Given the description of an element on the screen output the (x, y) to click on. 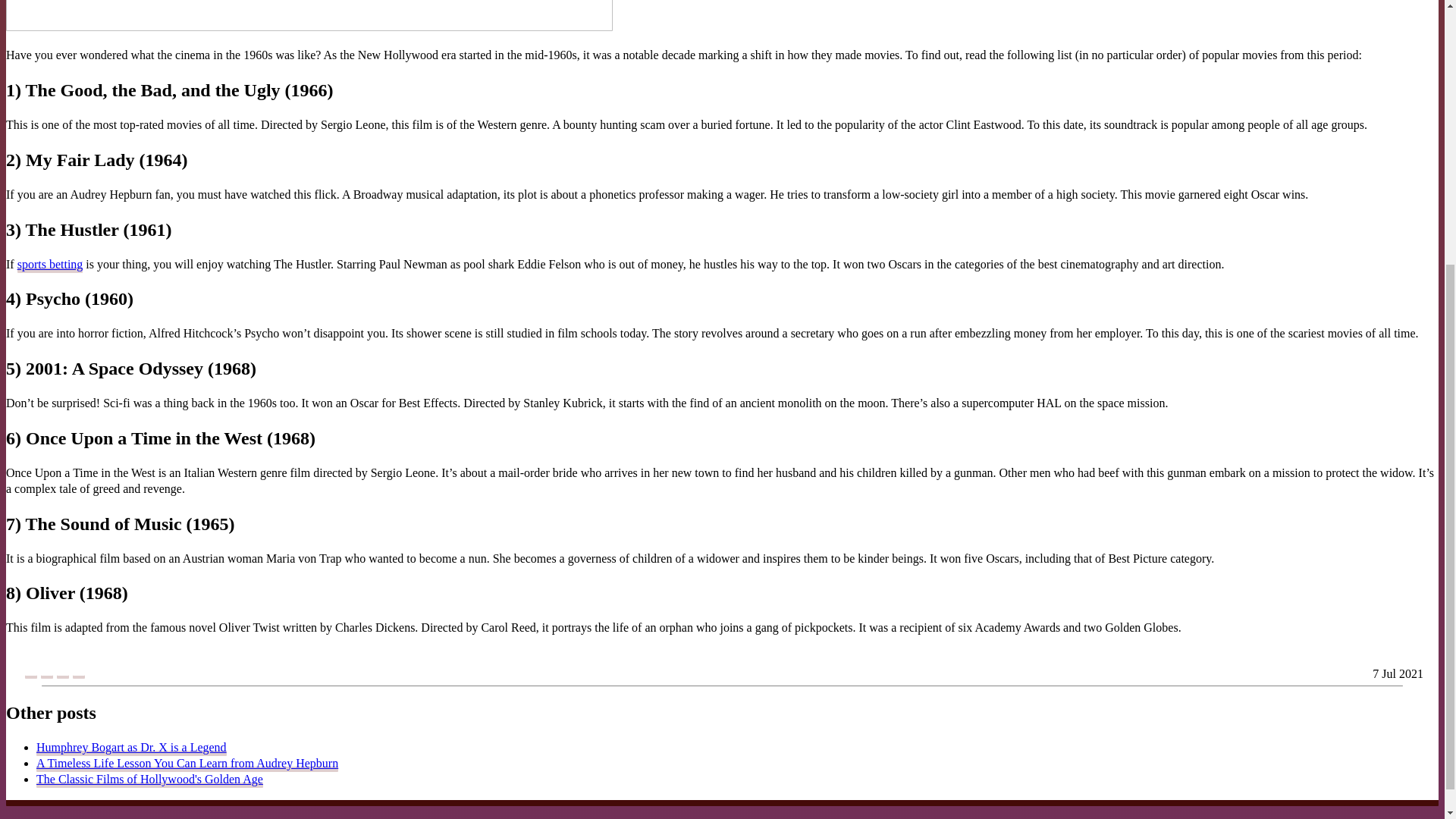
LinkedIn (62, 672)
Humphrey Bogart as Dr. X is a Legend (131, 748)
sports betting (49, 264)
A Timeless Life Lesson You Can Learn from Audrey Hepburn (186, 764)
Twitter (46, 672)
The Classic Films of Hollywood's Golden Age (149, 780)
RSS (78, 672)
Facebook (30, 672)
